Given the description of an element on the screen output the (x, y) to click on. 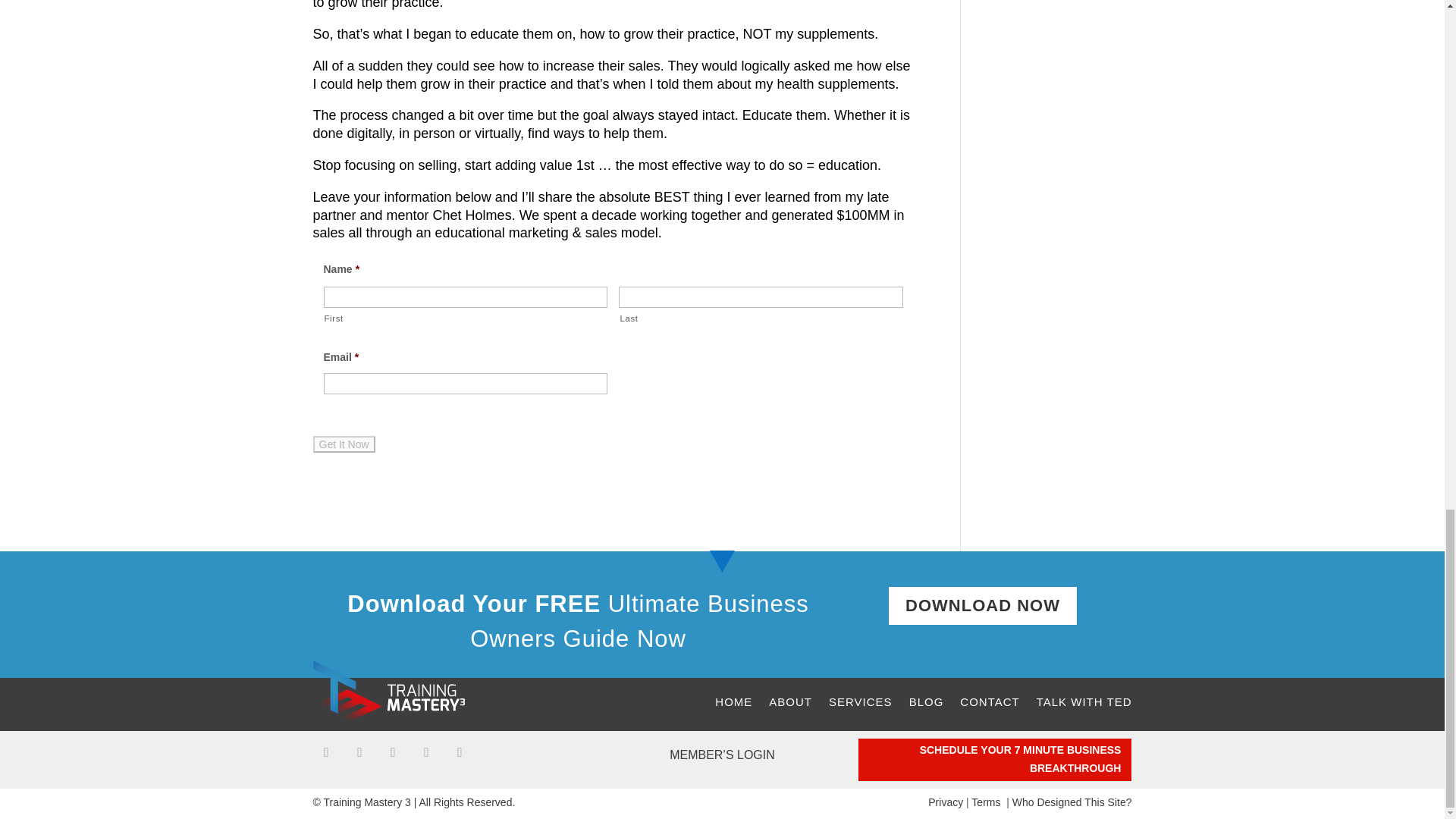
Follow on Facebook (326, 751)
SERVICES (860, 702)
Follow on LinkedIn (459, 751)
DOWNLOAD NOW (982, 606)
Follow on Twitter (359, 751)
CONTACT (989, 702)
Follow on RSS (425, 751)
Get It Now (343, 443)
SCHEDULE YOUR 7 MINUTE BUSINESS BREAKTHROUGH (995, 759)
Follow on Youtube (392, 751)
Get It Now (343, 443)
TALK WITH TED (1084, 702)
